Given the description of an element on the screen output the (x, y) to click on. 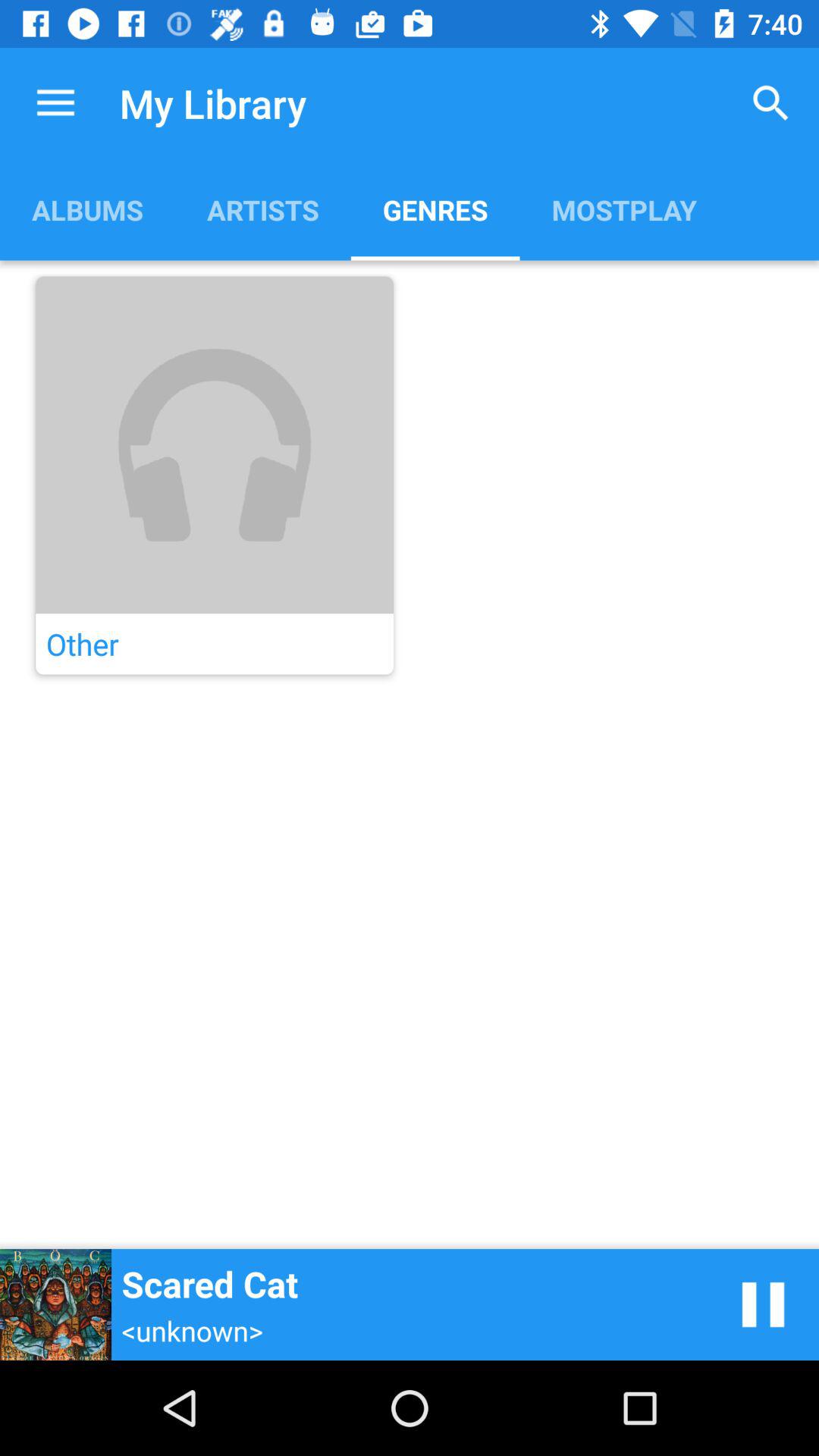
flip to albums item (87, 209)
